Given the description of an element on the screen output the (x, y) to click on. 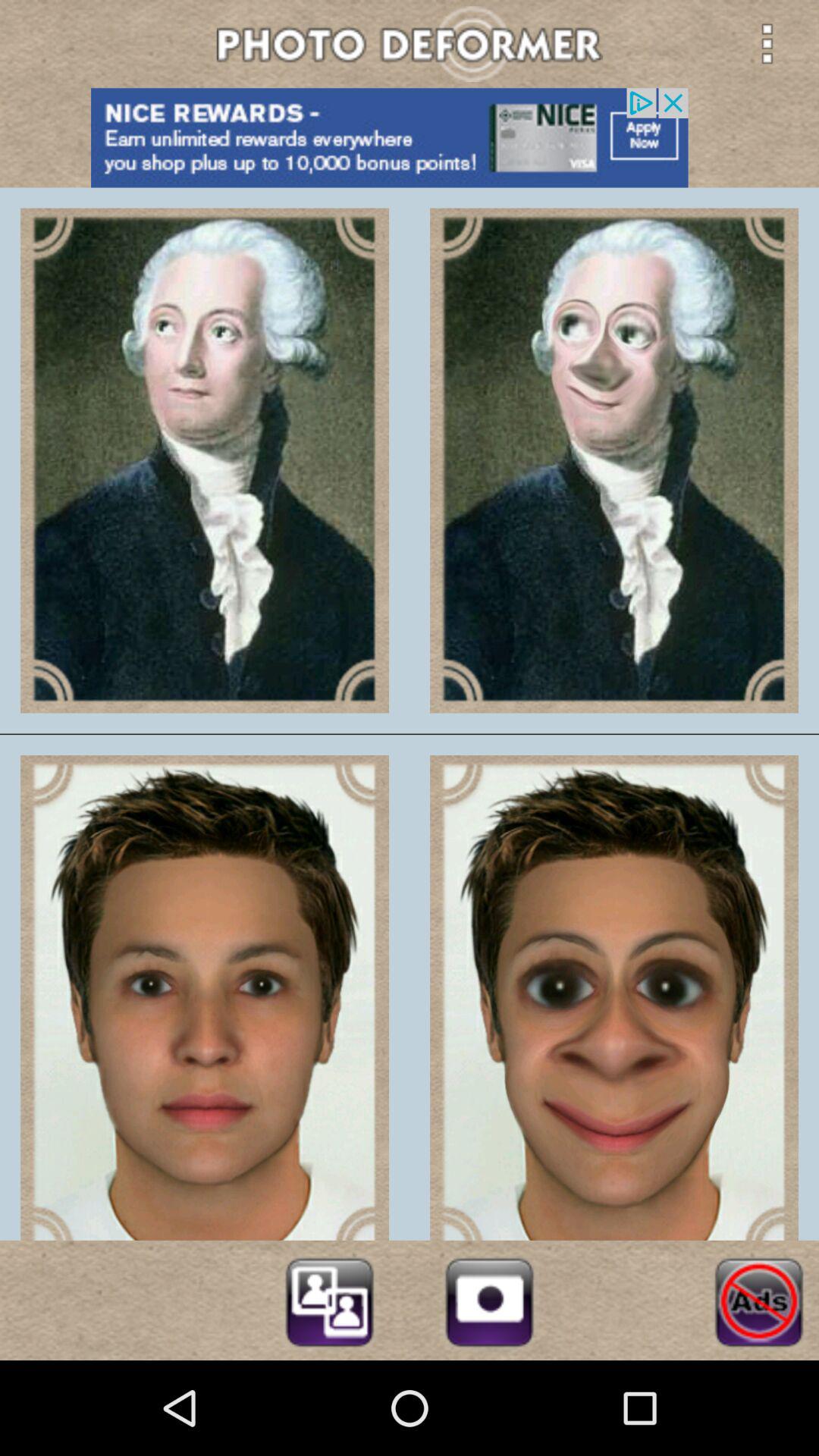
photo uploader (489, 1300)
